Given the description of an element on the screen output the (x, y) to click on. 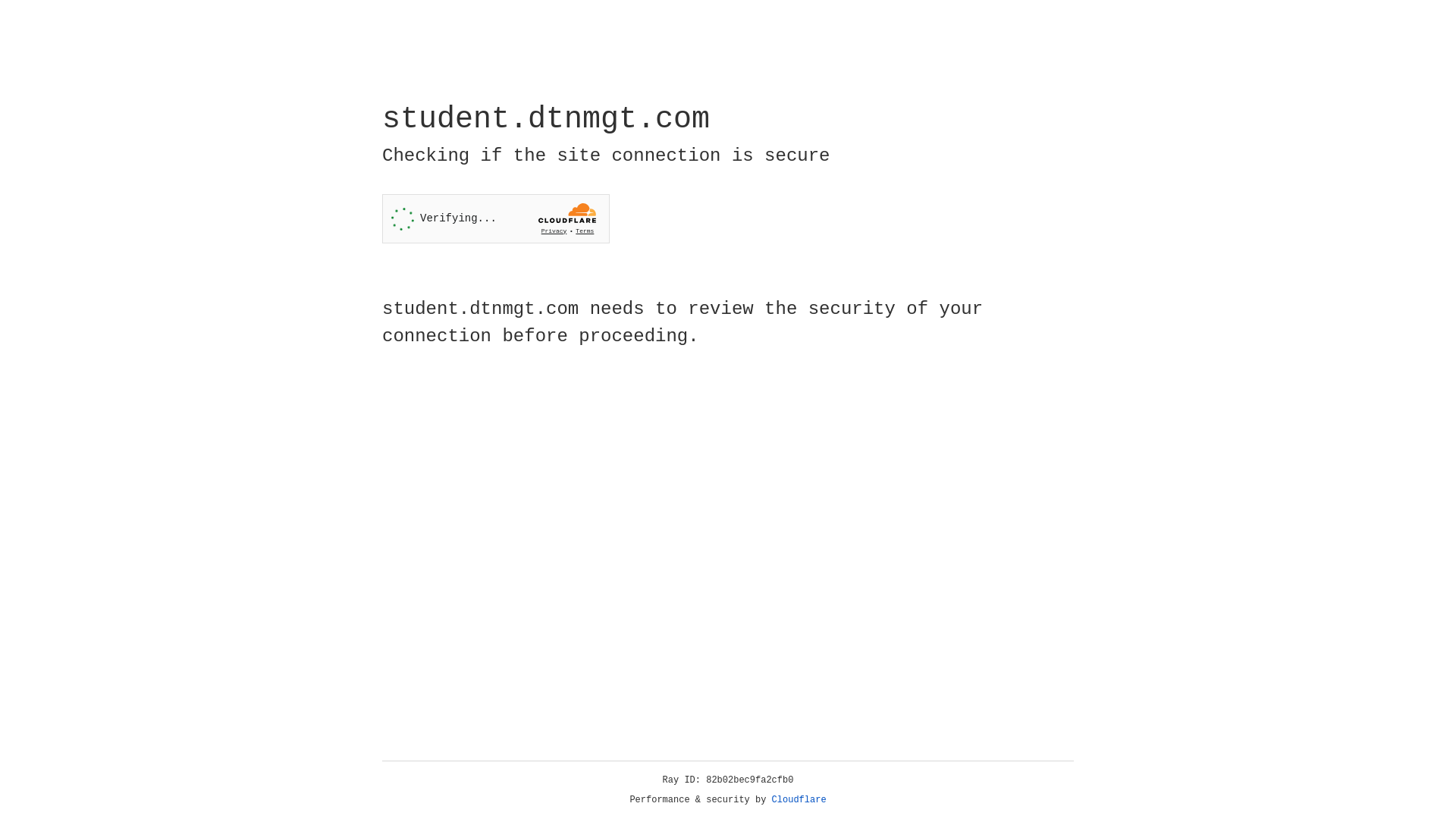
Widget containing a Cloudflare security challenge Element type: hover (495, 218)
Cloudflare Element type: text (798, 799)
